Given the description of an element on the screen output the (x, y) to click on. 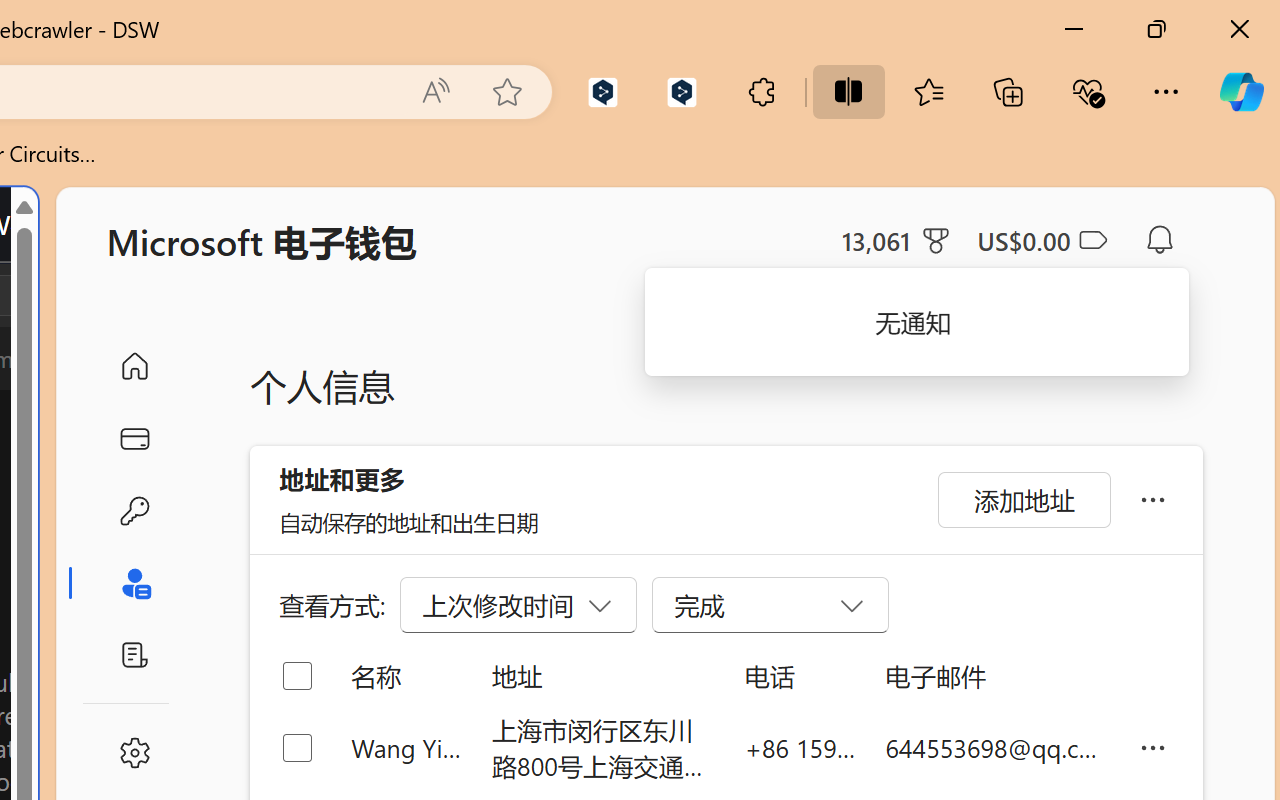
Class: ___1lmltc5 f1agt3bx f12qytpq (1092, 241)
